Given the description of an element on the screen output the (x, y) to click on. 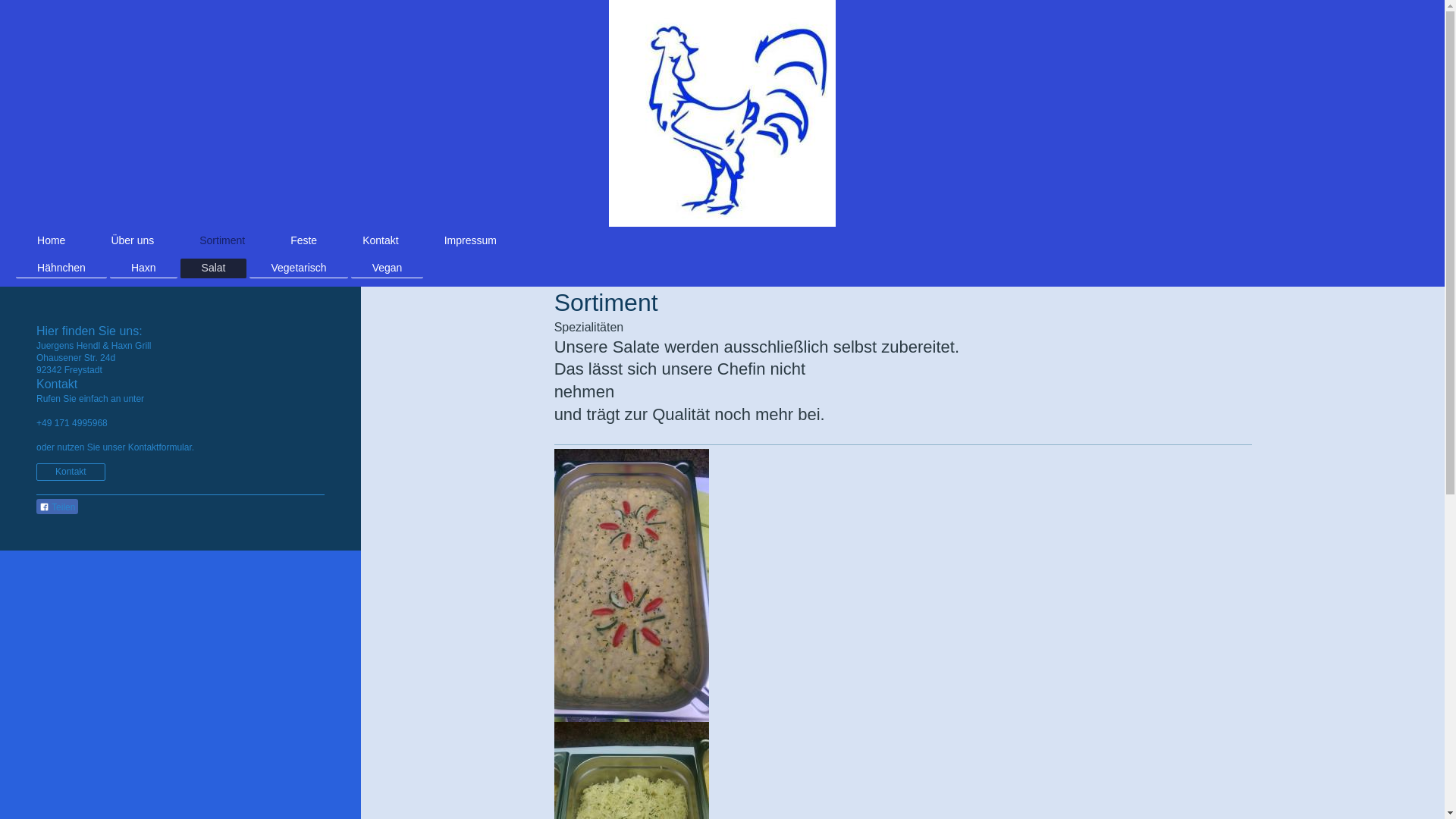
Teilen Element type: text (57, 506)
Kontakt Element type: text (70, 471)
Vegan Element type: text (387, 267)
Kontakt Element type: text (380, 240)
Haxn Element type: text (143, 267)
Sortiment Element type: text (222, 240)
Feste Element type: text (303, 240)
Vegetarisch Element type: text (298, 267)
Home Element type: text (50, 240)
Salat Element type: text (213, 267)
Impressum Element type: text (470, 240)
